Given the description of an element on the screen output the (x, y) to click on. 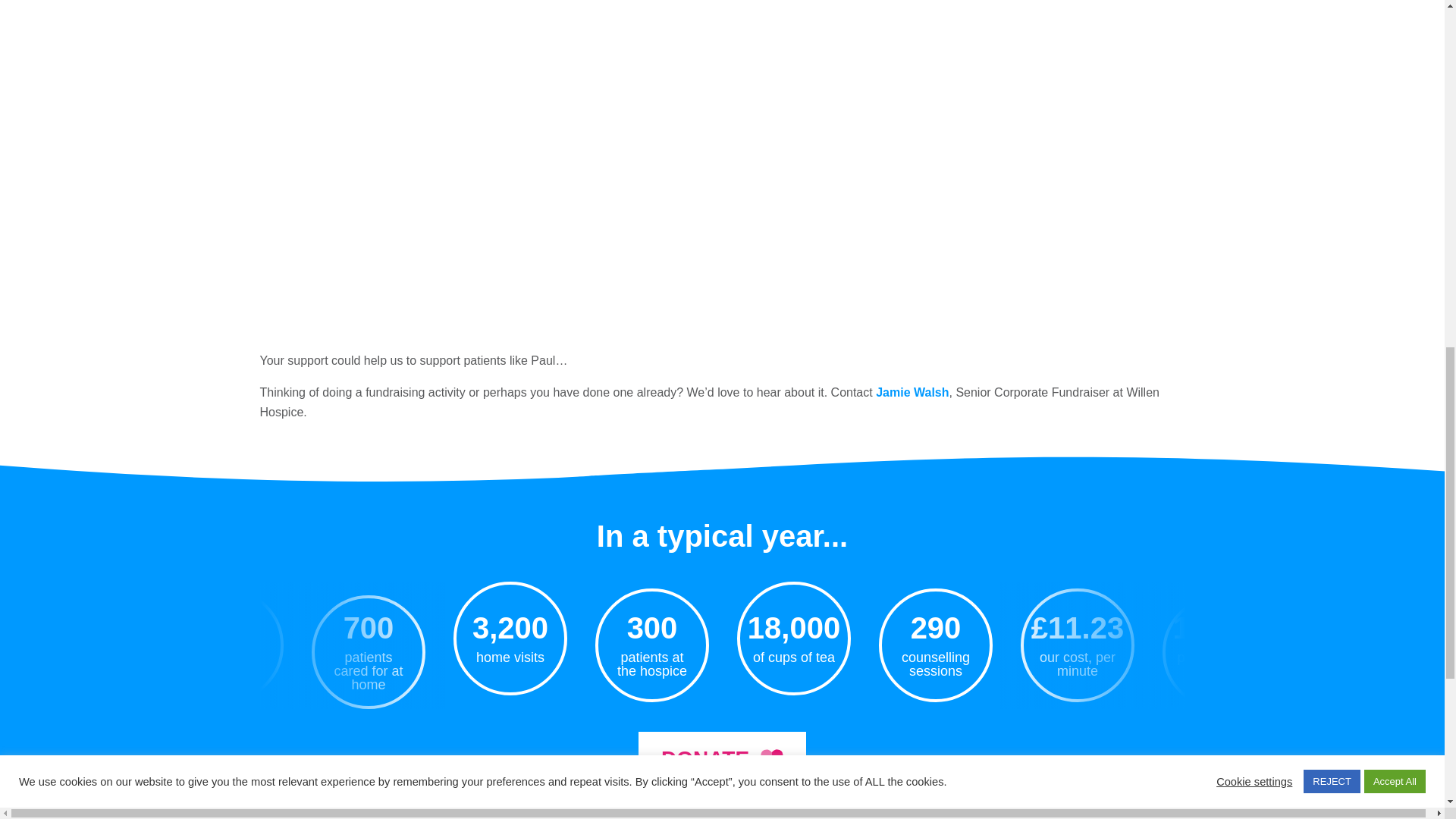
linkedin (738, 814)
instagram (726, 814)
twitter (702, 814)
facebook (713, 814)
Donate (722, 759)
